Given the description of an element on the screen output the (x, y) to click on. 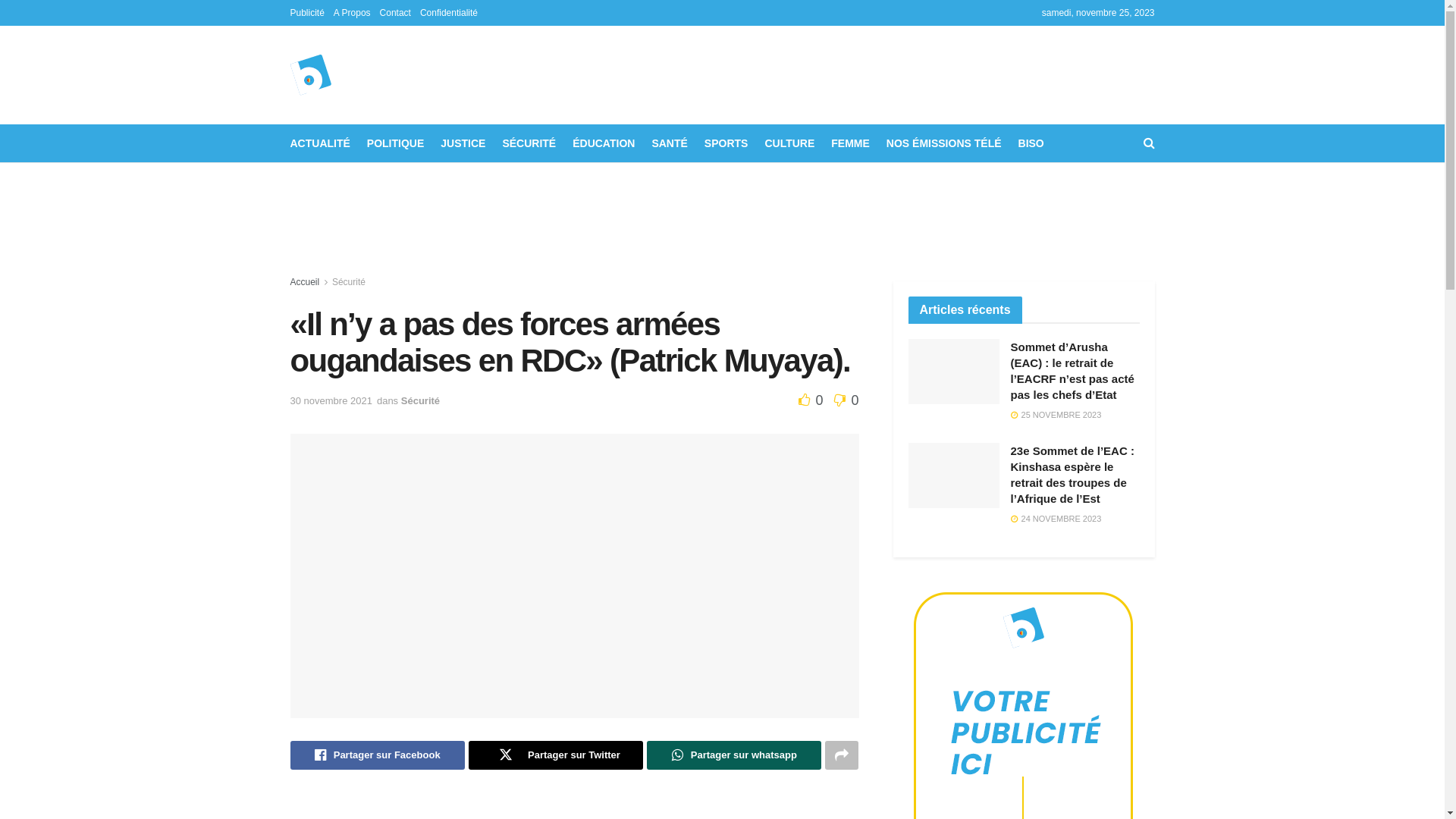
JUSTICE Element type: text (462, 142)
Partager sur whatsapp Element type: text (733, 754)
Contact Element type: text (395, 12)
SPORTS Element type: text (726, 142)
A Propos Element type: text (351, 12)
CULTURE Element type: text (789, 142)
Partager sur Twitter Element type: text (555, 754)
Partager sur Facebook Element type: text (376, 754)
30 novembre 2021 Element type: text (330, 400)
BISO Element type: text (1031, 142)
Advertisement Element type: hover (786, 72)
Advertisement Element type: hover (722, 219)
0 Element type: text (842, 399)
POLITIQUE Element type: text (395, 142)
FEMME Element type: text (850, 142)
Accueil Element type: text (304, 281)
0 Element type: text (812, 399)
